Given the description of an element on the screen output the (x, y) to click on. 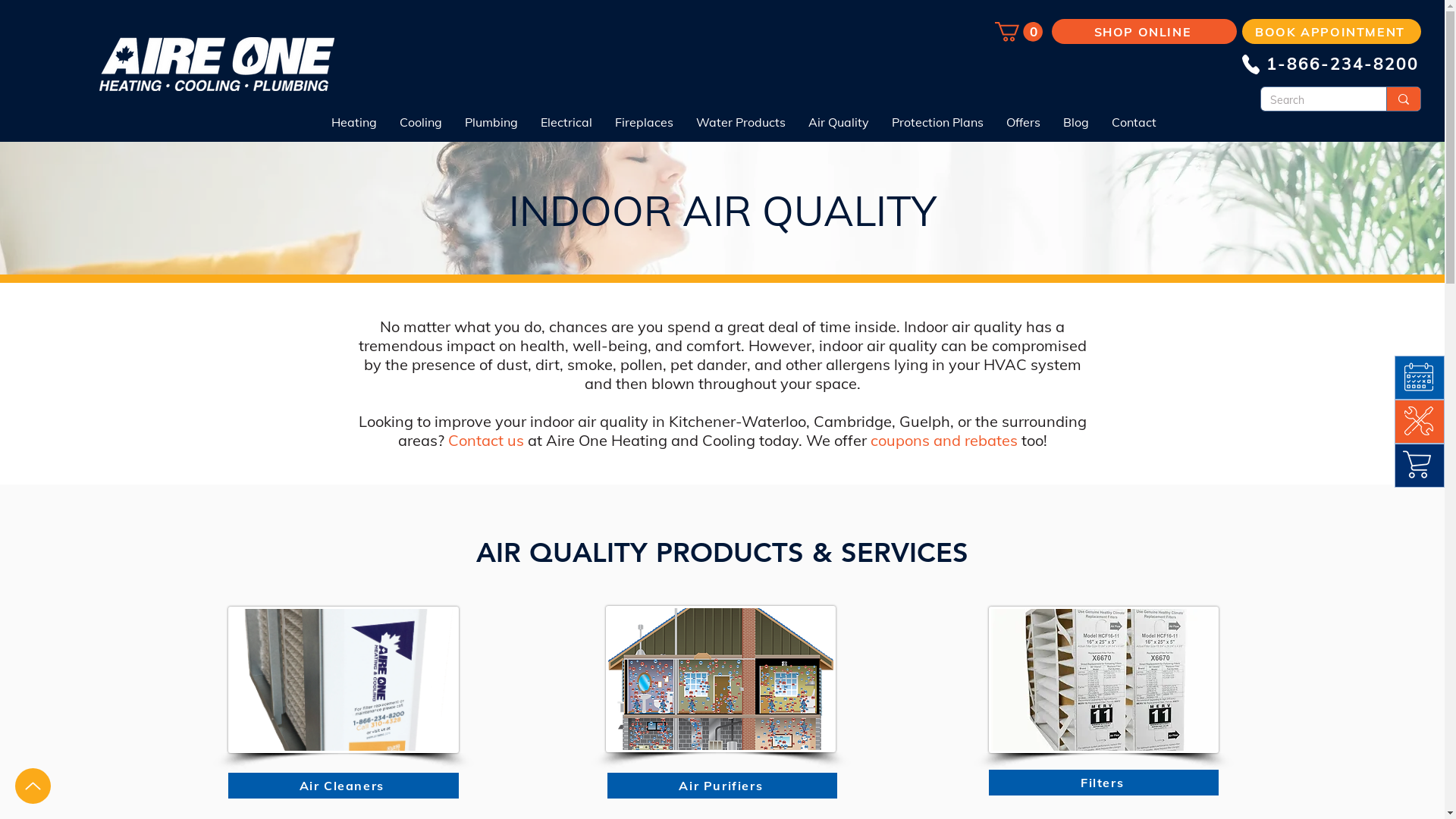
SHOP ONLINE Element type: text (1143, 30)
Contact us Element type: text (485, 439)
Air Quality Element type: text (837, 122)
Fireplaces Element type: text (643, 122)
Cooling Element type: text (420, 122)
Water Products Element type: text (740, 122)
Offers Element type: text (1022, 122)
BOOK APPOINTMENT Element type: text (1331, 30)
0 Element type: text (1018, 31)
Air Cleaners Element type: text (343, 785)
Contact Element type: text (1133, 122)
coupons and rebates Element type: text (943, 439)
Blog Element type: text (1075, 122)
Protection Plans Element type: text (936, 122)
Plumbing Element type: text (491, 122)
Air Purifiers Element type: text (722, 785)
Filters Element type: text (1103, 782)
Electrical Element type: text (566, 122)
Heating Element type: text (354, 122)
 1-866-234-8200 Element type: text (1339, 63)
